Given the description of an element on the screen output the (x, y) to click on. 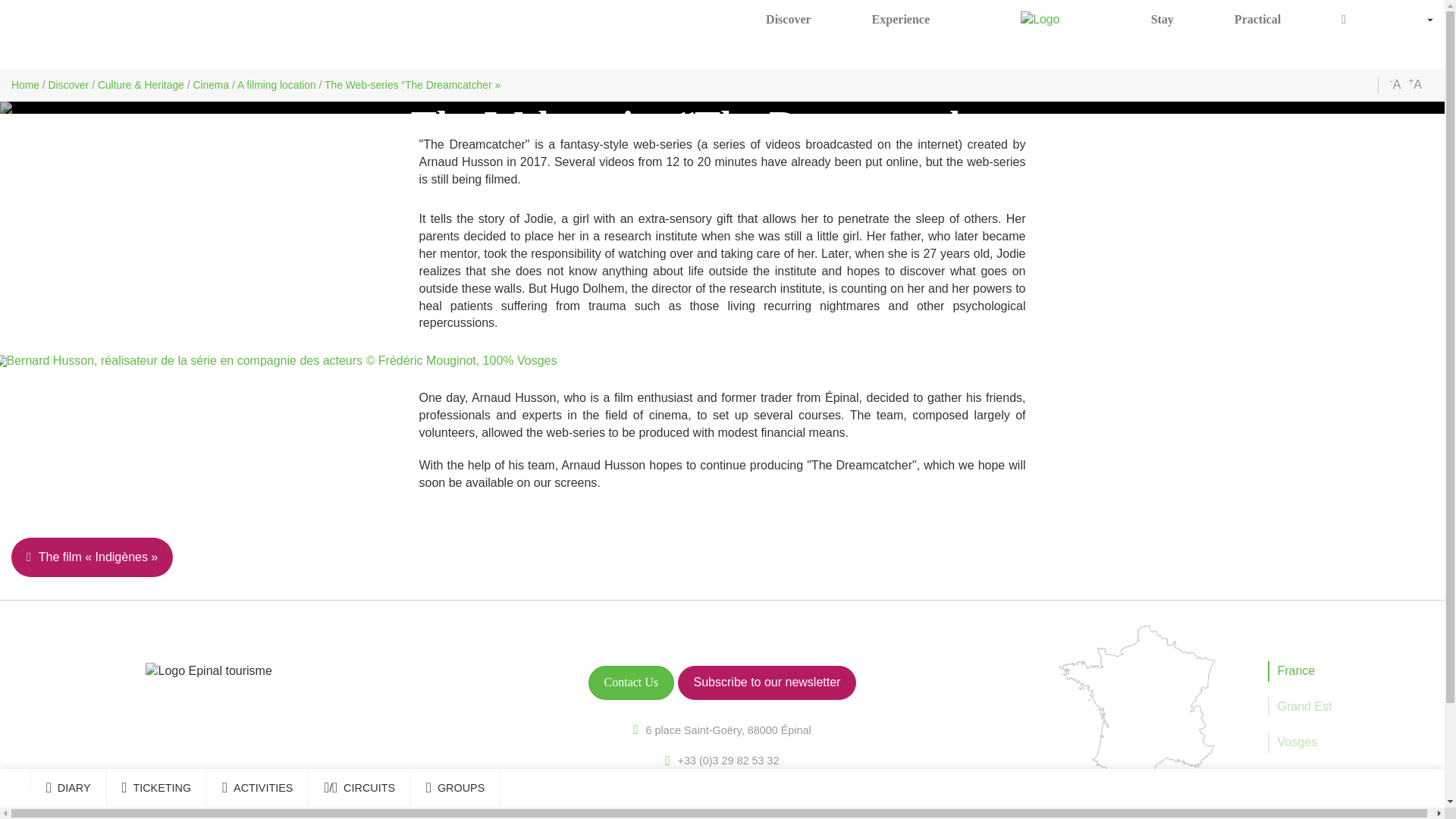
Experience (900, 19)
Stay (1162, 19)
Logo Epinal Tourisme Coeur des Vosges (1039, 19)
Discover (788, 19)
